Given the description of an element on the screen output the (x, y) to click on. 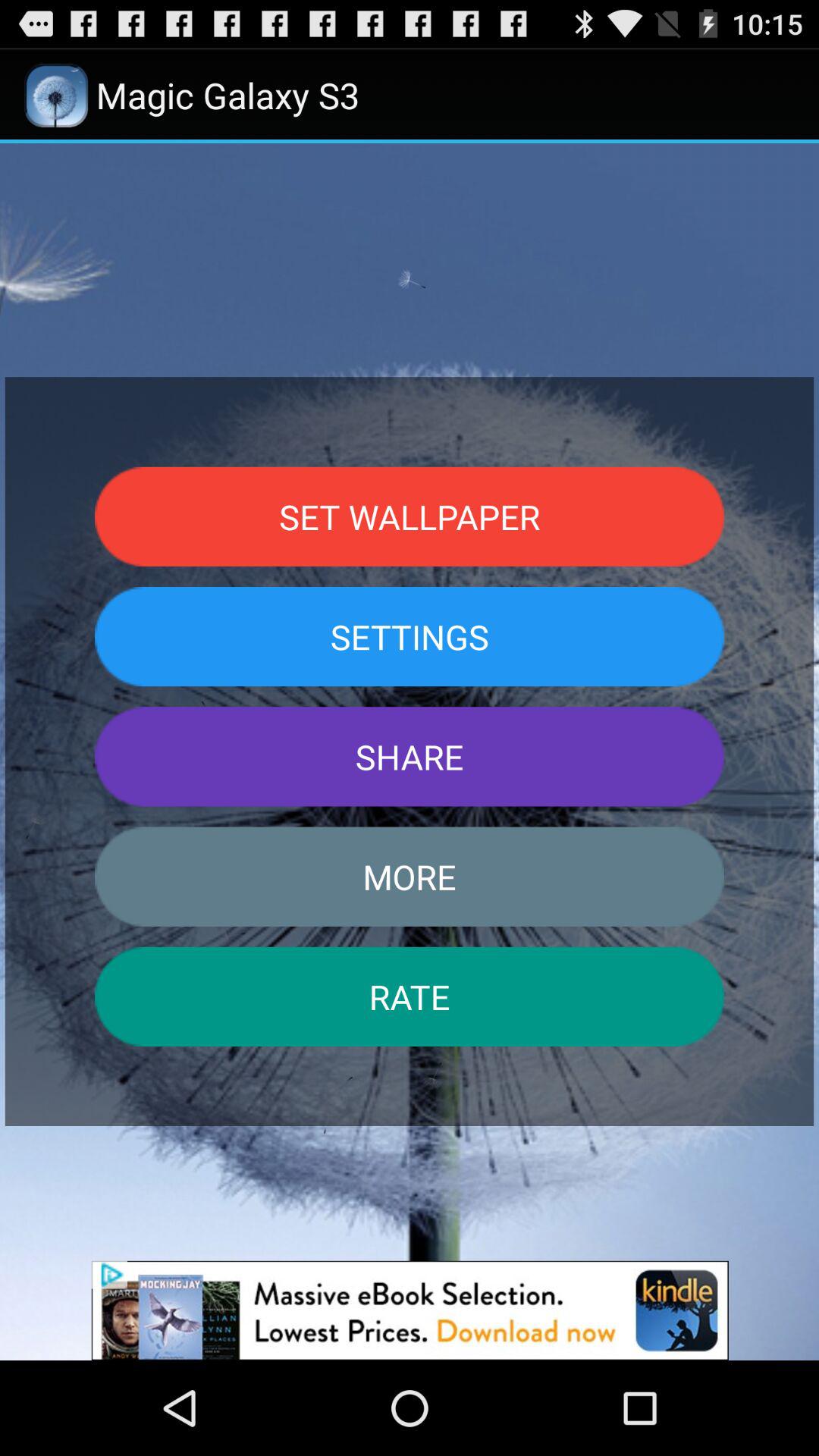
flip to the share button (409, 756)
